Given the description of an element on the screen output the (x, y) to click on. 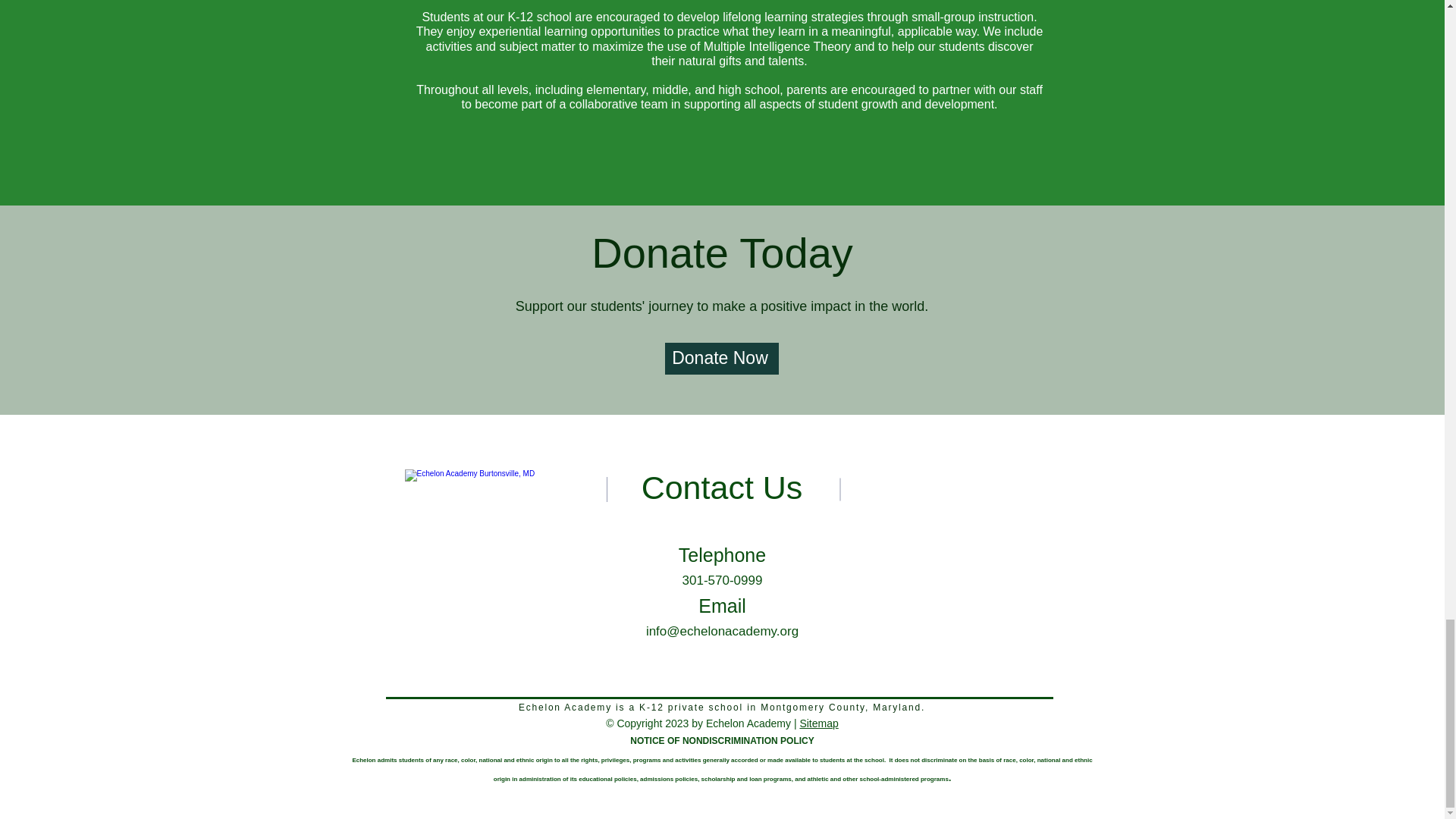
Echelon Academy Burtonsville, MD (510, 575)
Donate Now (720, 358)
Sitemap (818, 723)
